Given the description of an element on the screen output the (x, y) to click on. 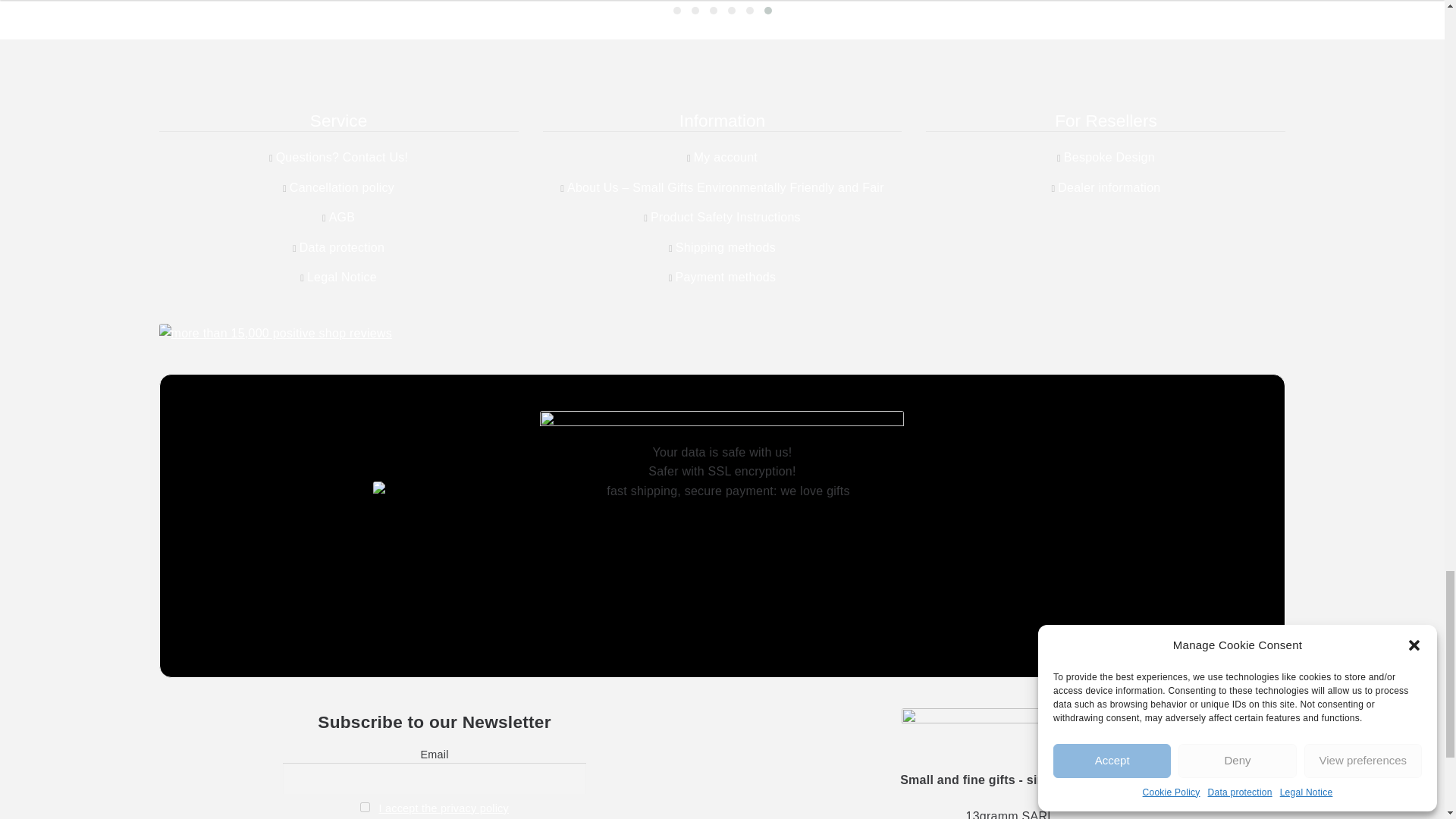
on (364, 807)
